Given the description of an element on the screen output the (x, y) to click on. 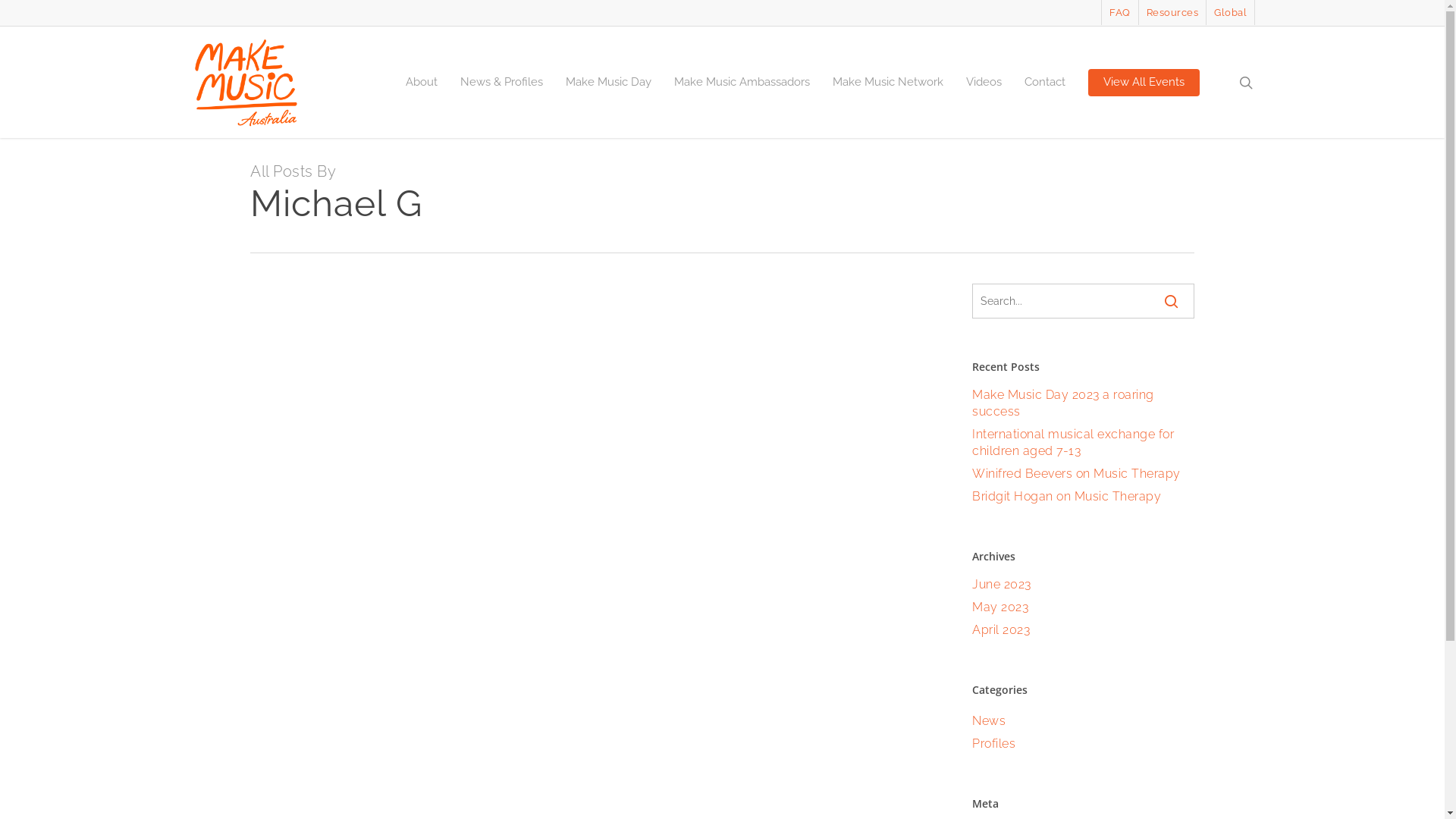
International musical exchange for children aged 7-13 Element type: text (1083, 442)
Videos Element type: text (983, 81)
Resources Element type: text (1171, 12)
search Element type: text (1245, 81)
About Element type: text (421, 81)
Make Music Ambassadors Element type: text (741, 81)
News & Profiles Element type: text (501, 81)
Profiles Element type: text (1083, 743)
May 2023 Element type: text (1083, 607)
Winifred Beevers on Music Therapy Element type: text (1083, 473)
June 2023 Element type: text (1083, 584)
Make Music Network Element type: text (887, 81)
April 2023 Element type: text (1083, 629)
Make Music Day 2023 a roaring success Element type: text (1083, 403)
View All Events Element type: text (1143, 81)
FAQ Element type: text (1119, 12)
Global Element type: text (1229, 12)
Search for: Element type: hover (1083, 300)
Contact Element type: text (1044, 81)
News Element type: text (1083, 720)
Bridgit Hogan on Music Therapy Element type: text (1083, 496)
Make Music Day Element type: text (608, 81)
